Given the description of an element on the screen output the (x, y) to click on. 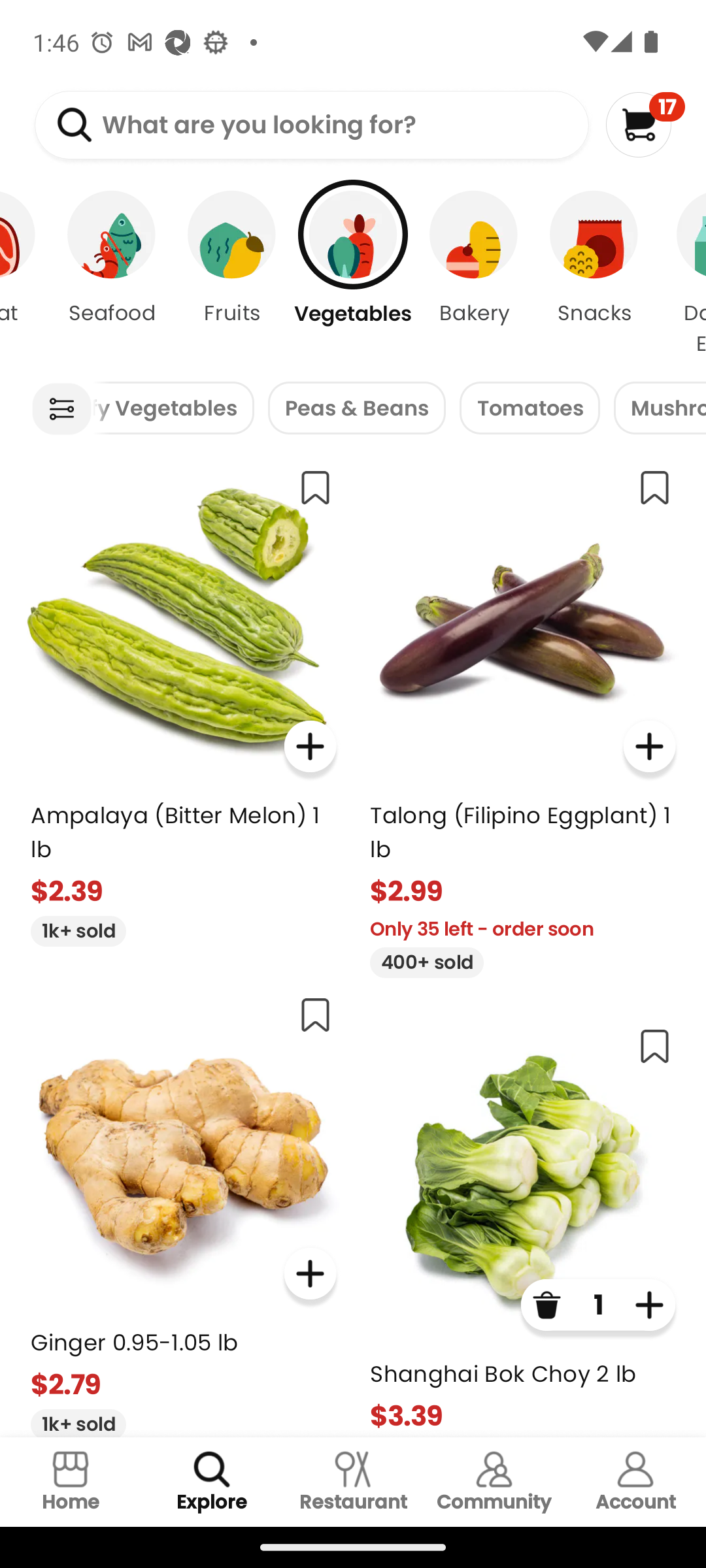
What are you looking for? (311, 124)
17 (644, 124)
Seafood (111, 274)
Fruits (232, 274)
Vegetables (352, 274)
Bakery (473, 274)
Snacks (593, 274)
Leafy Vegetables (173, 407)
Peas & Beans (356, 407)
Tomatoes (529, 407)
Mushrooms (659, 407)
Ampalaya (Bitter Melon) 1 lb $2.39 1k+ sold (182, 700)
Ginger 0.95-1.05 lb $2.79 1k+ sold (182, 1208)
1 Shanghai Bok Choy 2 lb $3.39 (522, 1224)
Home (70, 1482)
Explore (211, 1482)
Restaurant (352, 1482)
Community (493, 1482)
Account (635, 1482)
